Given the description of an element on the screen output the (x, y) to click on. 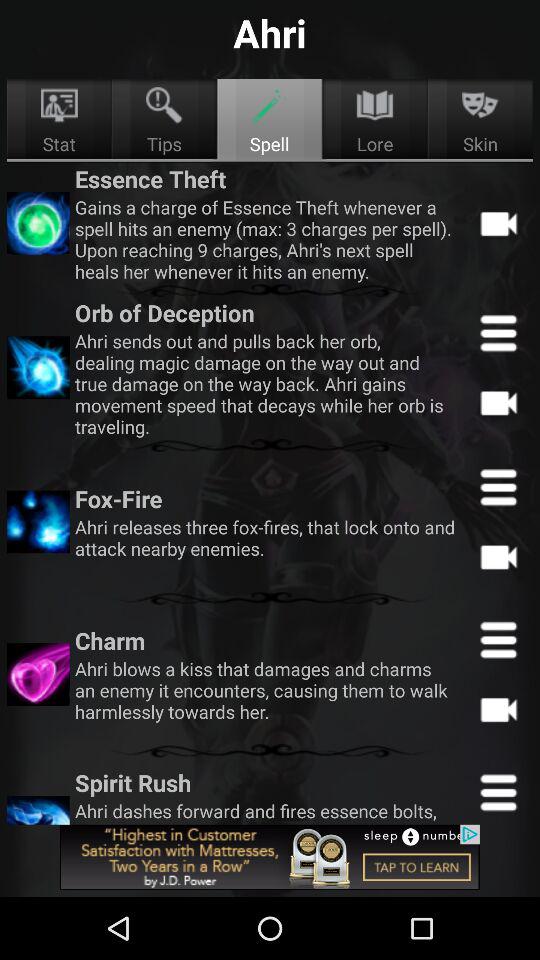
more options (498, 487)
